Given the description of an element on the screen output the (x, y) to click on. 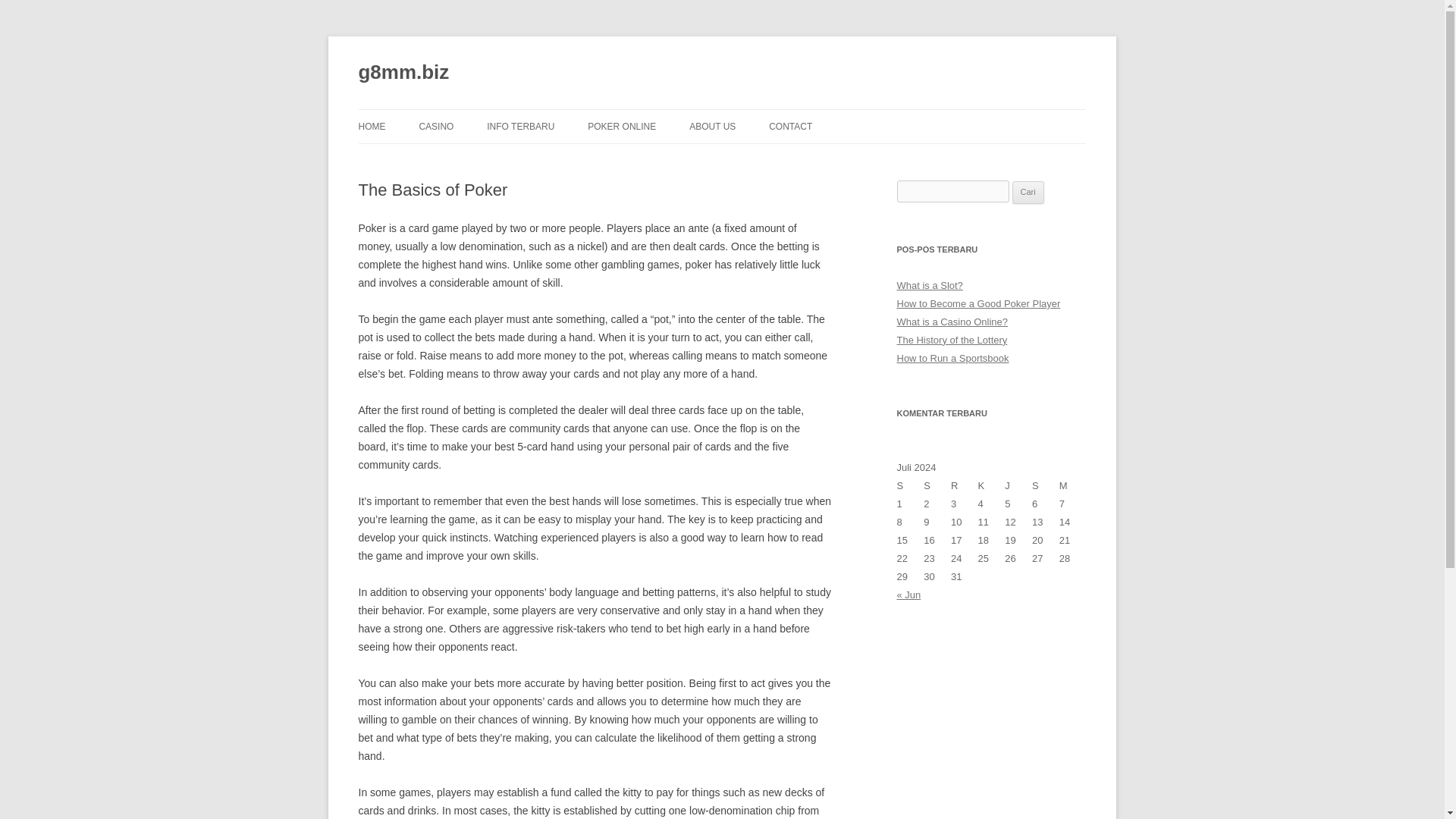
Cari (1027, 191)
Jumat (1018, 485)
Minggu (1072, 485)
Cari (1027, 191)
Senin (909, 485)
What is a Casino Online? (951, 321)
The History of the Lottery (951, 339)
POKER ONLINE (622, 126)
g8mm.biz (403, 72)
How to Run a Sportsbook (952, 357)
g8mm.biz (403, 72)
How to Become a Good Poker Player (977, 303)
CASINO (435, 126)
